Given the description of an element on the screen output the (x, y) to click on. 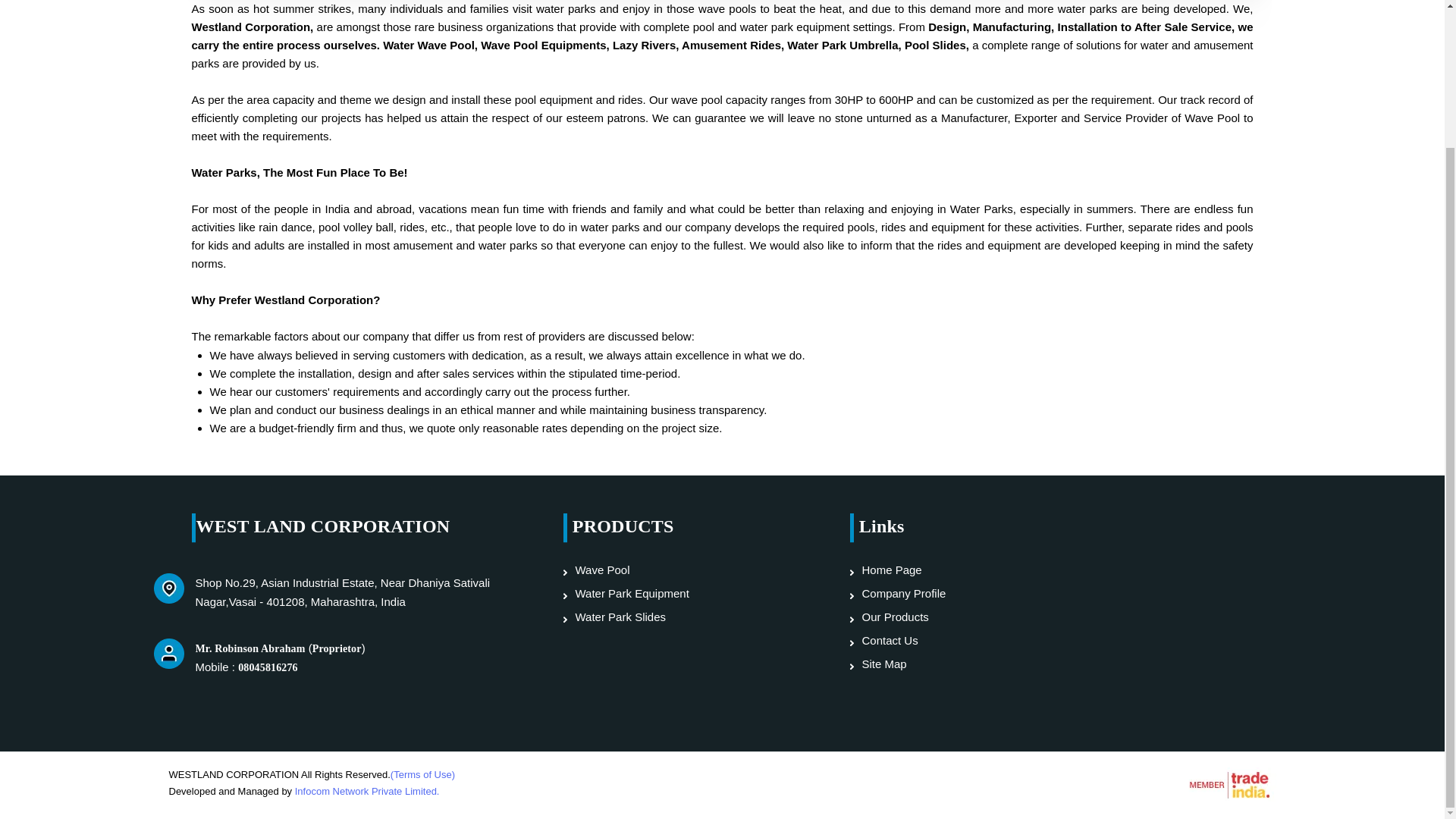
Water Park Slides (679, 616)
Our Products (938, 616)
Site Map (938, 663)
Infocom Network Private Limited. (367, 790)
Company Profile (938, 593)
Water Park Equipment (679, 593)
Wave Pool (679, 569)
Home Page (938, 569)
Contact Us (938, 640)
